Given the description of an element on the screen output the (x, y) to click on. 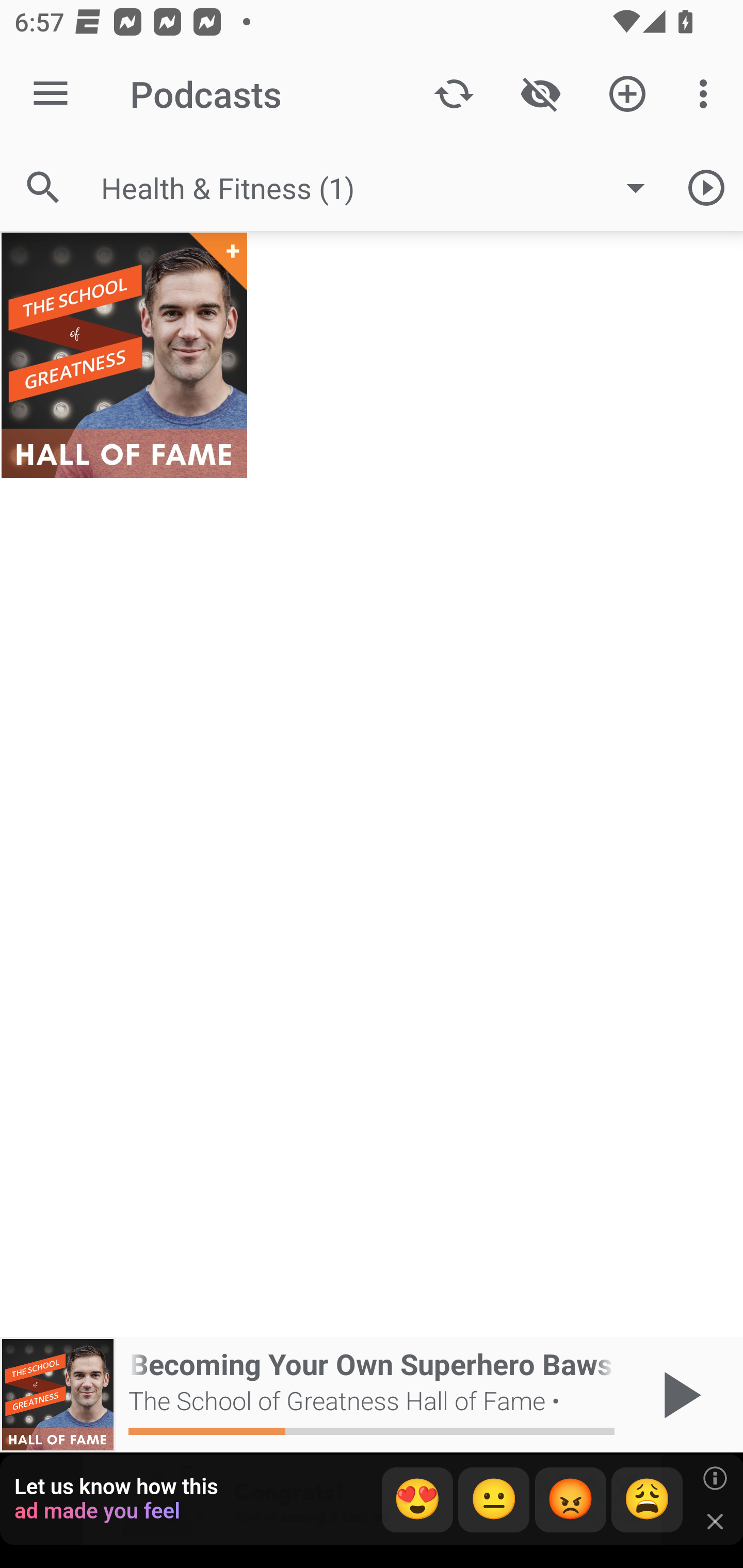
Open navigation sidebar (50, 93)
Update (453, 93)
Show / Hide played content (540, 93)
Add new Podcast (626, 93)
More options (706, 93)
Search (43, 187)
Health & Fitness (1) (382, 188)
The School of Greatness Hall of Fame + (124, 355)
Play / Pause (677, 1394)
app-monetization (371, 1500)
😍 (416, 1499)
😐 (493, 1499)
😡 (570, 1499)
😩 (647, 1499)
